Given the description of an element on the screen output the (x, y) to click on. 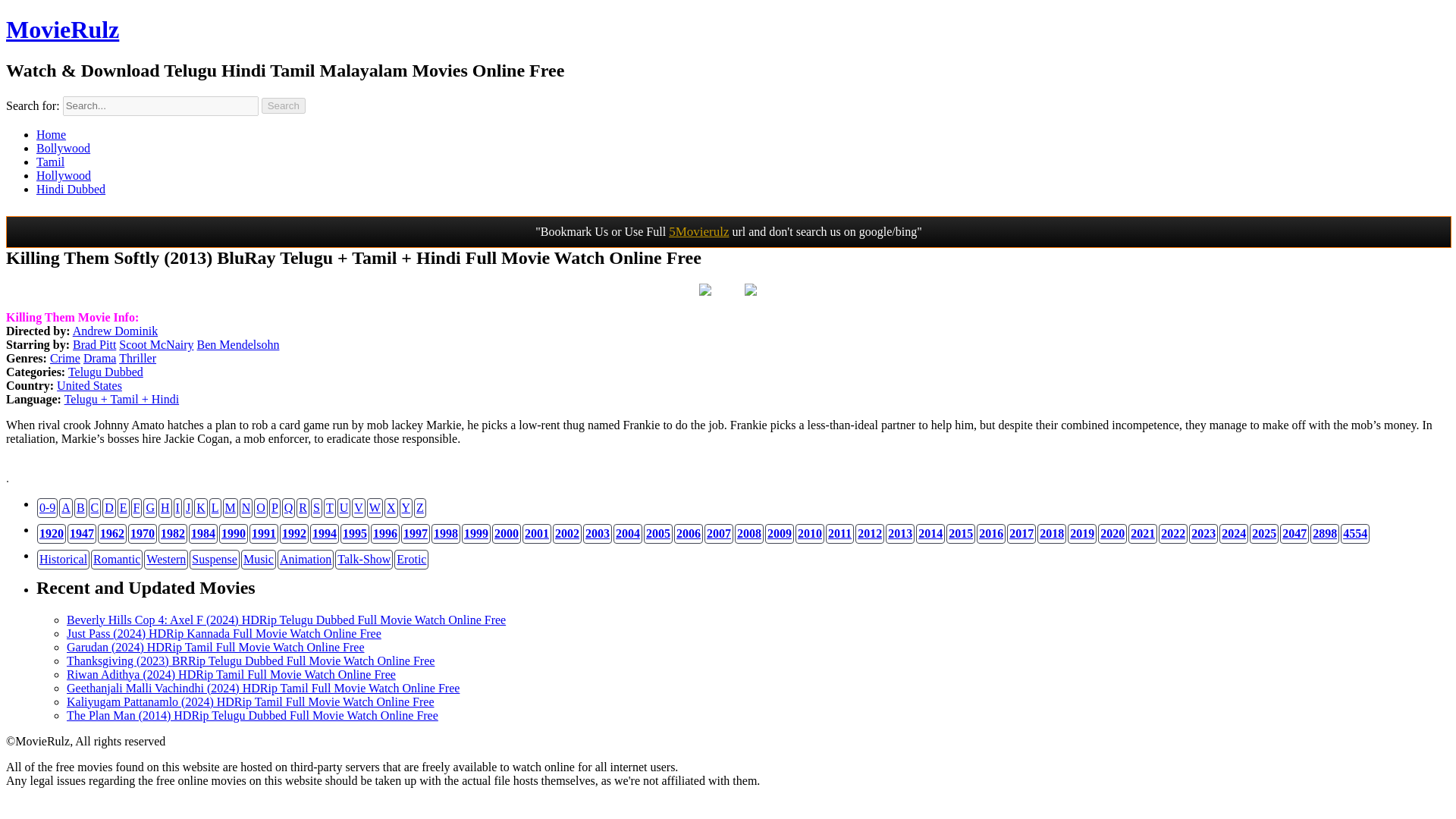
Ben Mendelsohn (237, 344)
Download And Watch Online (704, 291)
Home (50, 133)
Hollywood (63, 174)
Thriller (137, 358)
Hindi Dubbed (70, 188)
Scoot McNairy (156, 344)
Bollywood (63, 147)
Andrew Dominik (114, 330)
Brad Pitt (94, 344)
